Given the description of an element on the screen output the (x, y) to click on. 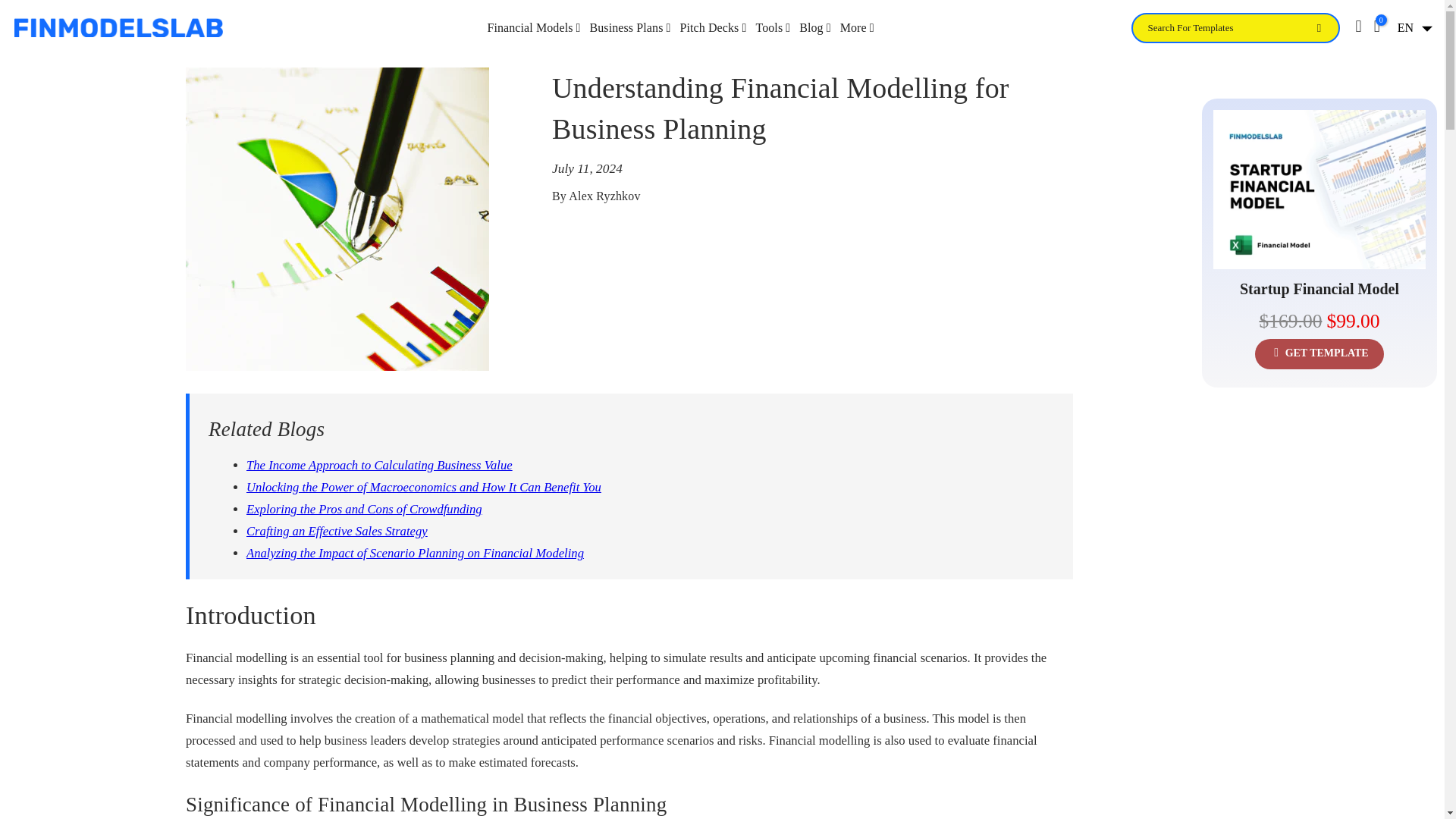
Financial Models (533, 27)
Tools (772, 27)
The Income Approach to Calculating Business Value (379, 464)
Pitch Decks (713, 27)
Crafting an Effective Sales Strategy (337, 531)
Business Plans (630, 27)
EN (1412, 28)
More (857, 27)
GET TEMPLATE (1319, 354)
Exploring the Pros and Cons of Crowdfunding (363, 509)
